Given the description of an element on the screen output the (x, y) to click on. 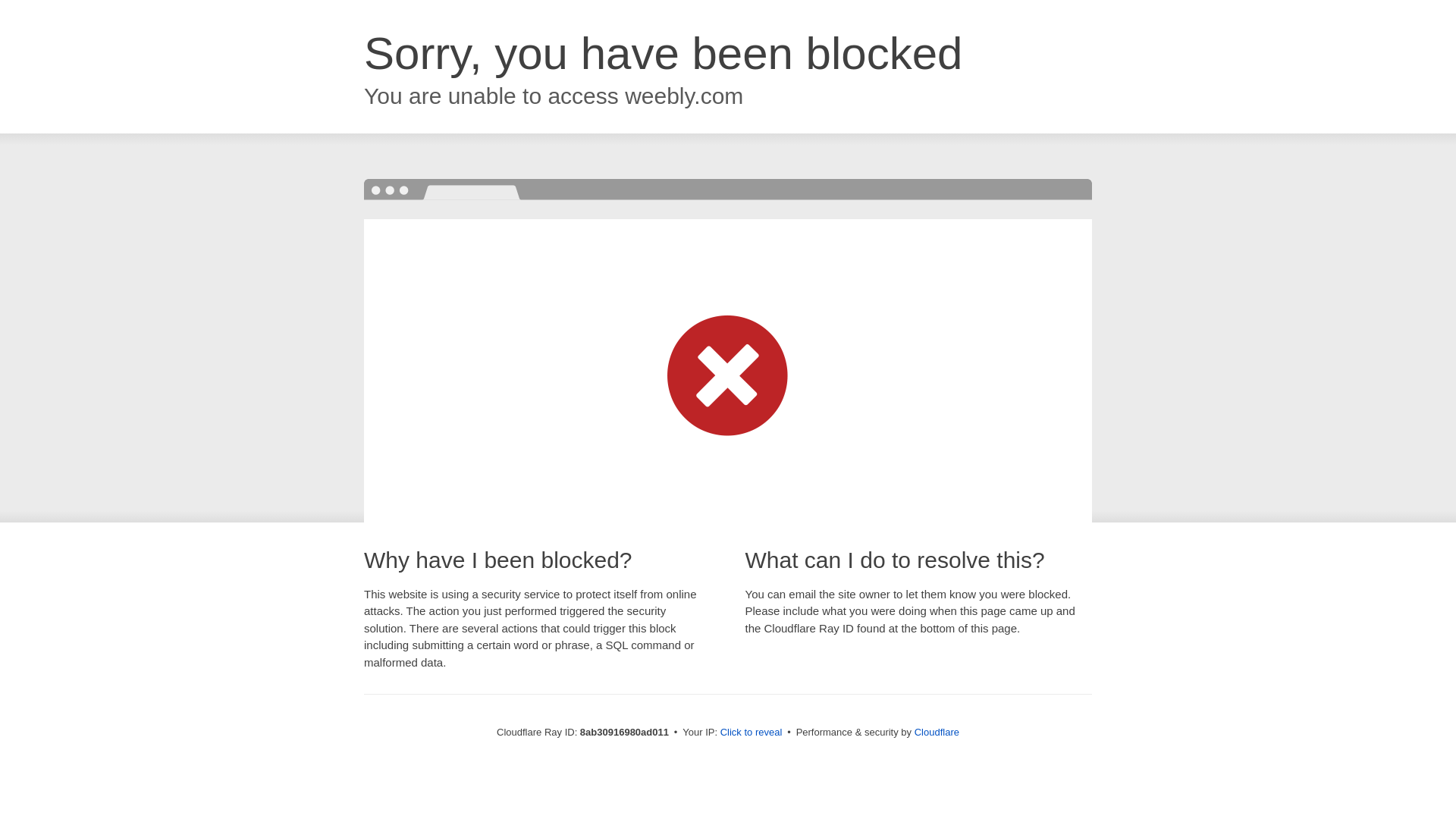
Cloudflare (936, 731)
Click to reveal (751, 732)
